Given the description of an element on the screen output the (x, y) to click on. 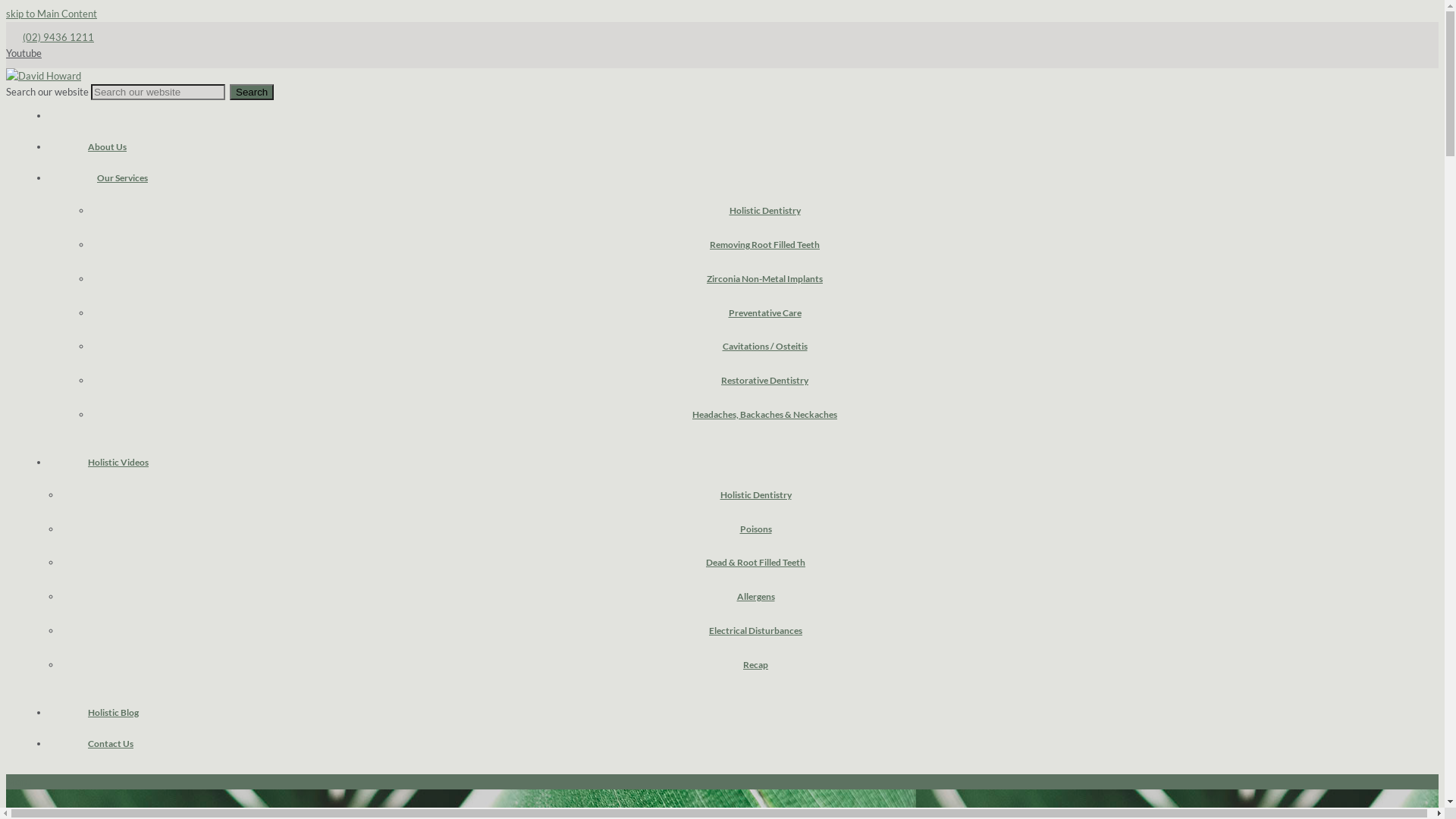
Contact Us Element type: text (110, 743)
Dead & Root Filled Teeth Element type: text (755, 562)
Holistic Blog Element type: text (113, 712)
Preventative Care Element type: text (764, 312)
Poisons Element type: text (755, 528)
Removing Root Filled Teeth Element type: text (764, 244)
Holistic Videos Element type: text (118, 461)
Holistic Dentistry Element type: text (755, 494)
Recap Element type: text (755, 664)
skip to Main Content Element type: text (51, 13)
Restorative Dentistry Element type: text (764, 380)
Electrical Disturbances Element type: text (755, 630)
Cavitations / Osteitis Element type: text (764, 346)
About Us Element type: text (107, 146)
Search Element type: text (251, 92)
Allergens Element type: text (755, 596)
Youtube Element type: text (23, 53)
Headaches, Backaches & Neckaches Element type: text (764, 414)
Menu Element type: text (18, 781)
Zirconia Non-Metal Implants Element type: text (764, 278)
Our Services Element type: text (122, 177)
(02) 9436 1211 Element type: text (58, 37)
Holistic Dentistry Element type: text (764, 210)
